Given the description of an element on the screen output the (x, y) to click on. 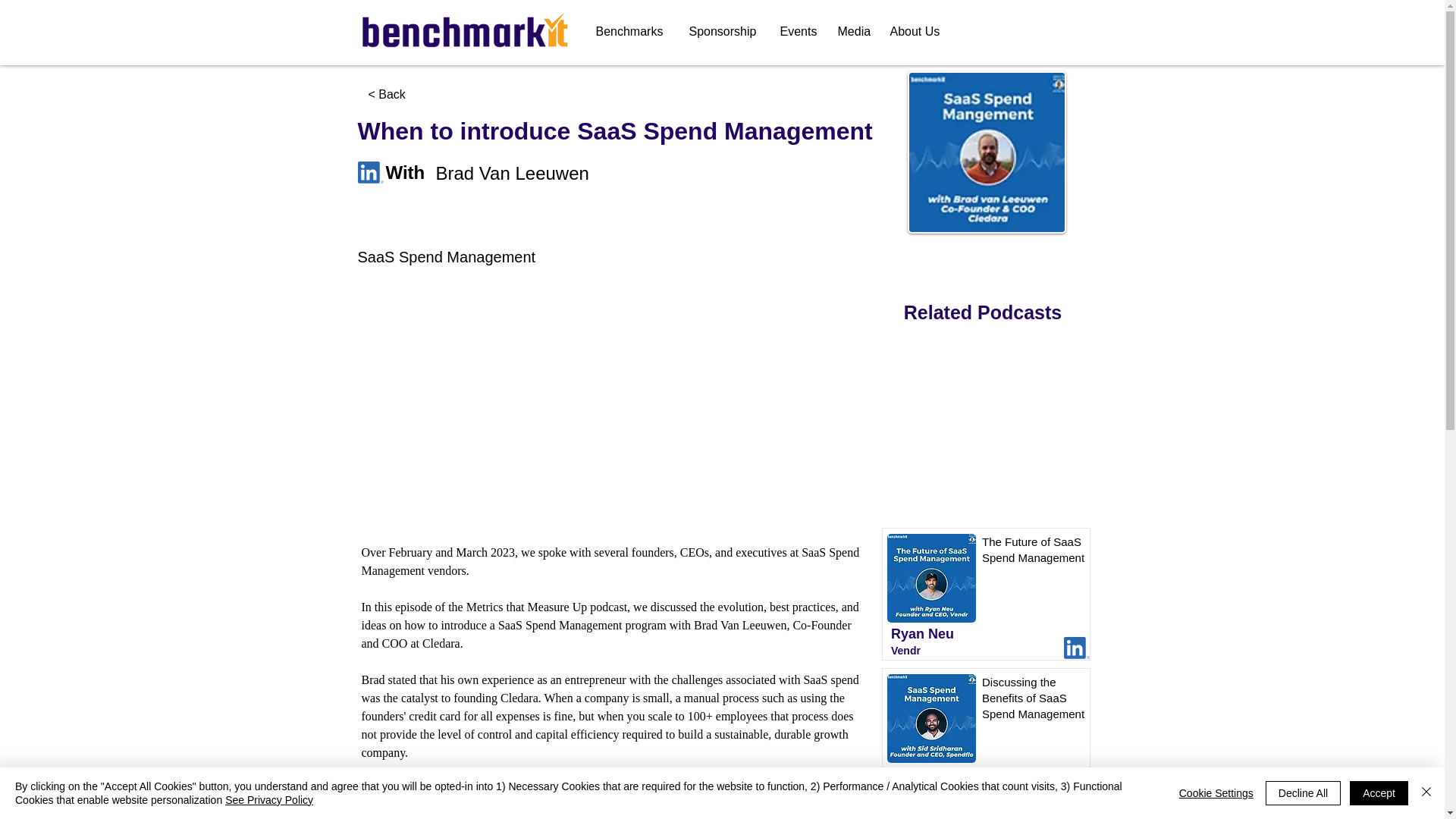
Events (800, 31)
remote content (616, 407)
About Us (918, 31)
LI-In-Bug.png (1076, 789)
Media (855, 31)
LI-In-Bug.png (1076, 648)
